Given the description of an element on the screen output the (x, y) to click on. 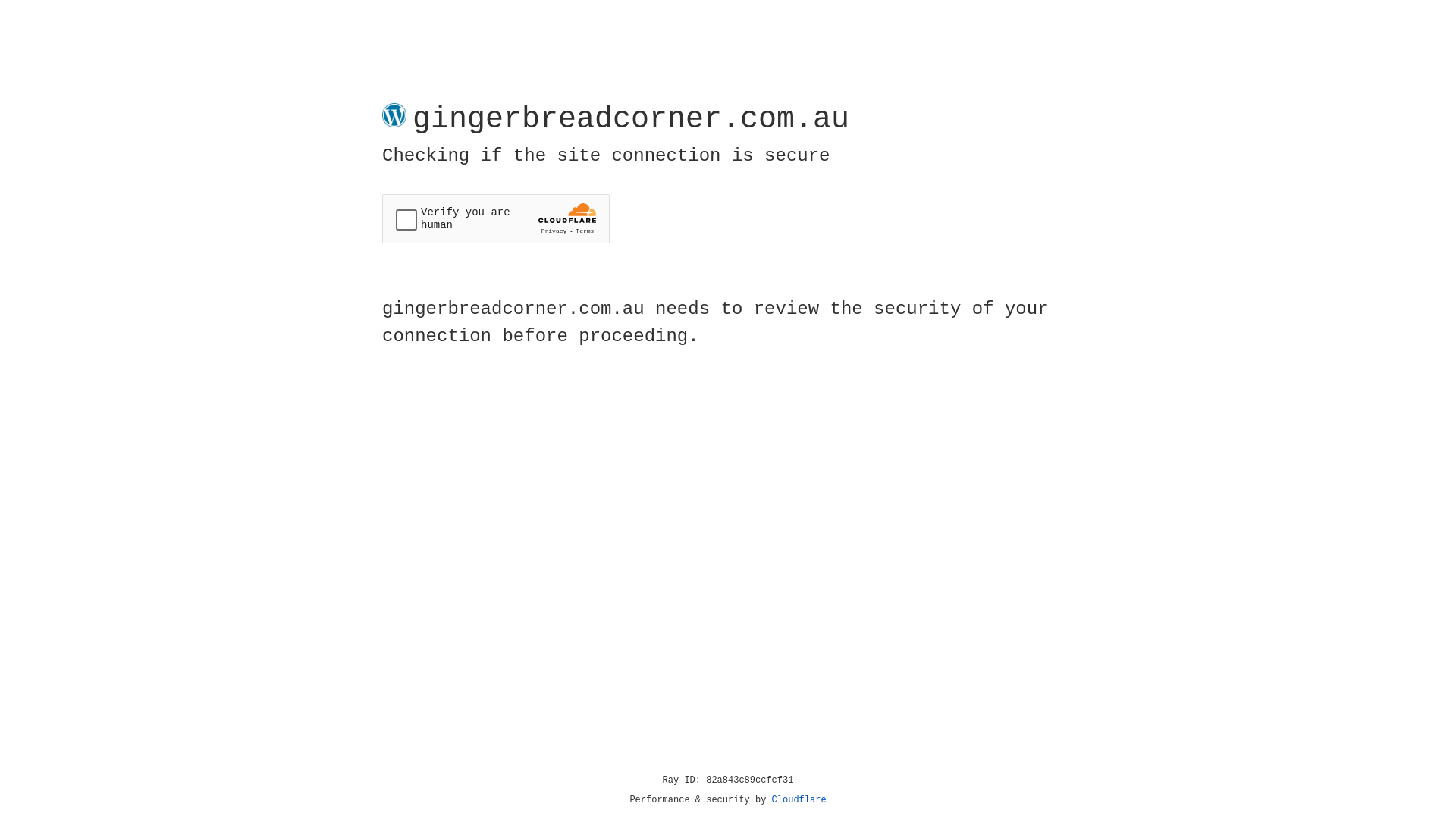
Cloudflare Element type: text (798, 799)
Widget containing a Cloudflare security challenge Element type: hover (495, 218)
